Given the description of an element on the screen output the (x, y) to click on. 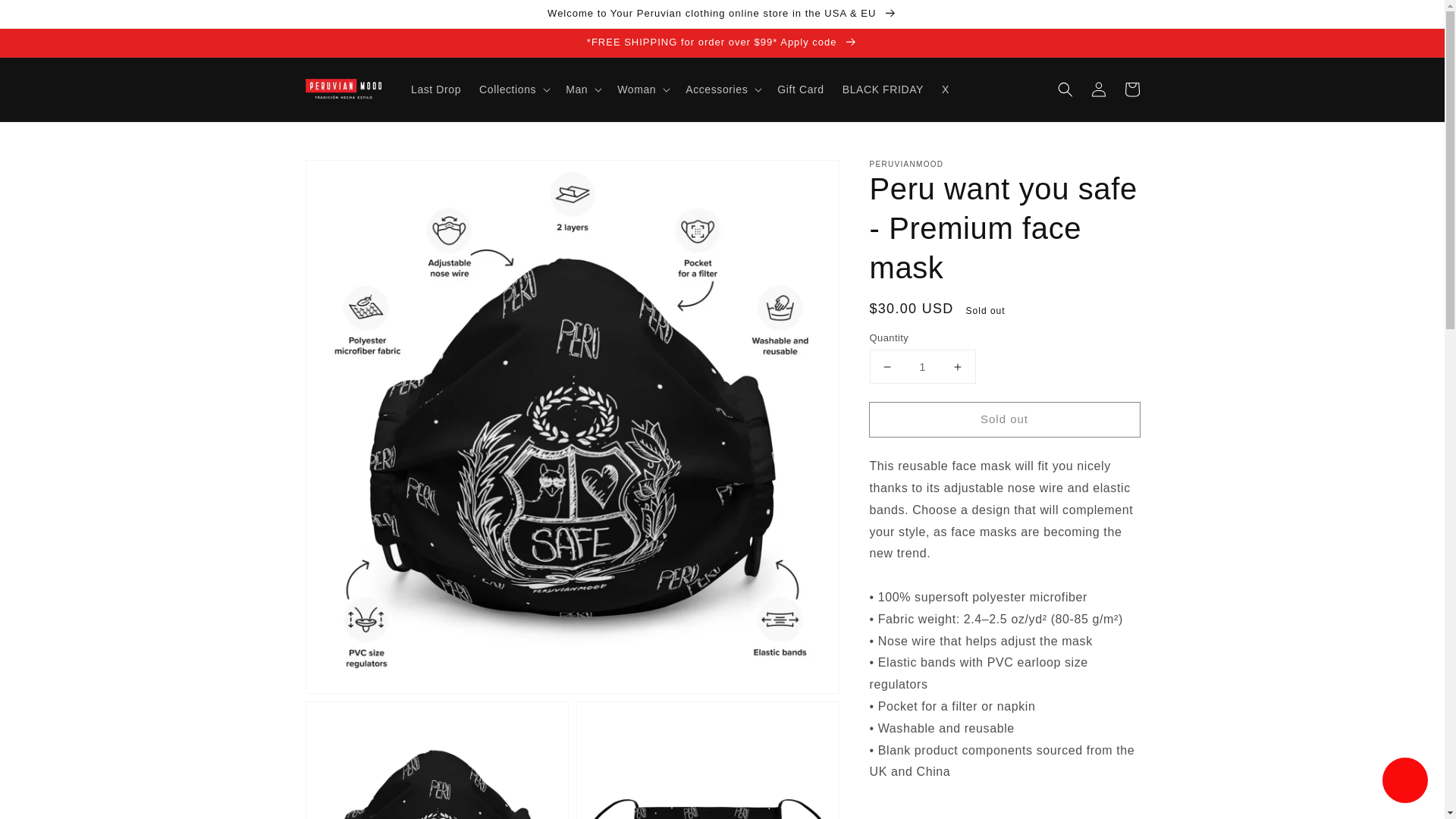
Skip to content (45, 16)
Shopify online store chat (1404, 781)
1 (922, 366)
